Given the description of an element on the screen output the (x, y) to click on. 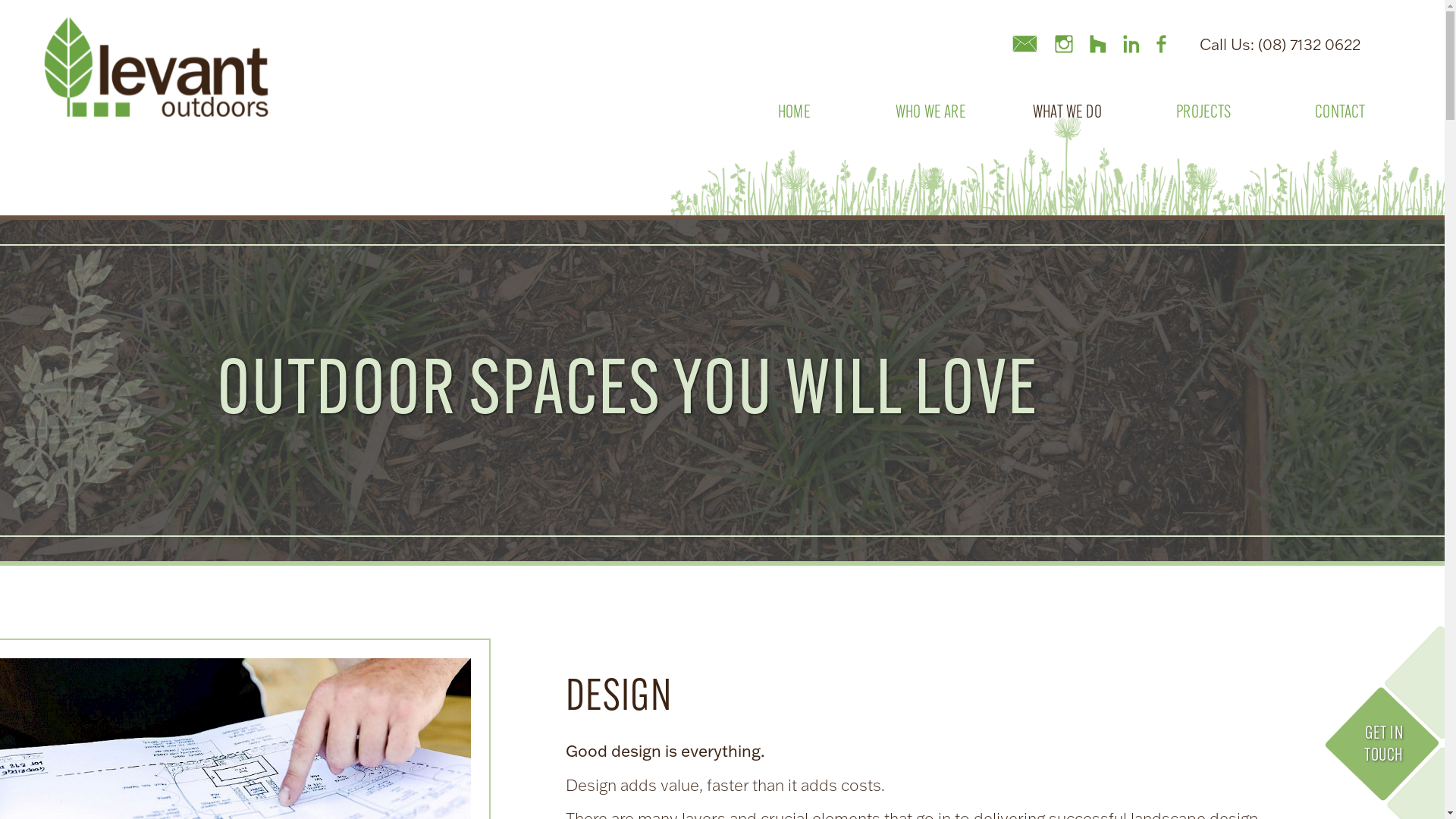
PROJECTS Element type: text (1203, 157)
Follow Levant Outdoors on Houzz Element type: hover (1097, 45)
Send us a message Element type: hover (1024, 45)
WHO WE ARE Element type: text (930, 157)
WHAT WE DO Element type: text (1066, 157)
CONTACT Element type: text (1339, 157)
Go to Levant Outdoors Home page Element type: hover (155, 66)
Call Us: (08) 7132 0622 Element type: text (1279, 43)
Follow Levant Outdoors on Instagram Element type: hover (1063, 45)
Follow Levant Outdoors on Facebook Element type: hover (1161, 45)
Follow Levant Outdoors on LinkedIn Element type: hover (1131, 45)
HOME Element type: text (793, 157)
